Given the description of an element on the screen output the (x, y) to click on. 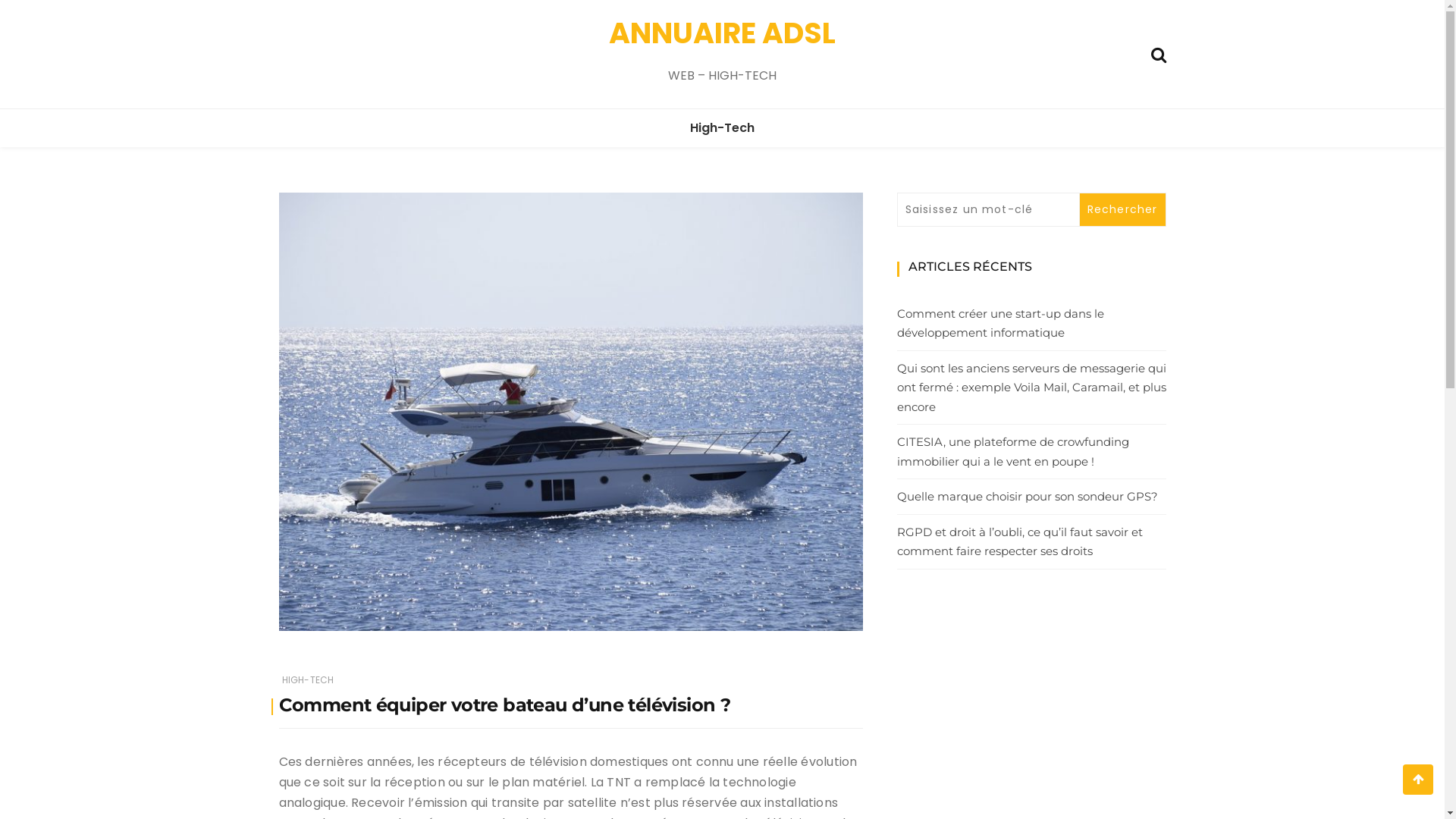
High-Tech Element type: text (721, 128)
Search Element type: hover (1158, 53)
Quelle marque choisir pour son sondeur GPS? Element type: text (1030, 496)
HIGH-TECH Element type: text (308, 679)
ANNUAIRE ADSL Element type: text (721, 32)
Rechercher Element type: text (1121, 209)
